Given the description of an element on the screen output the (x, y) to click on. 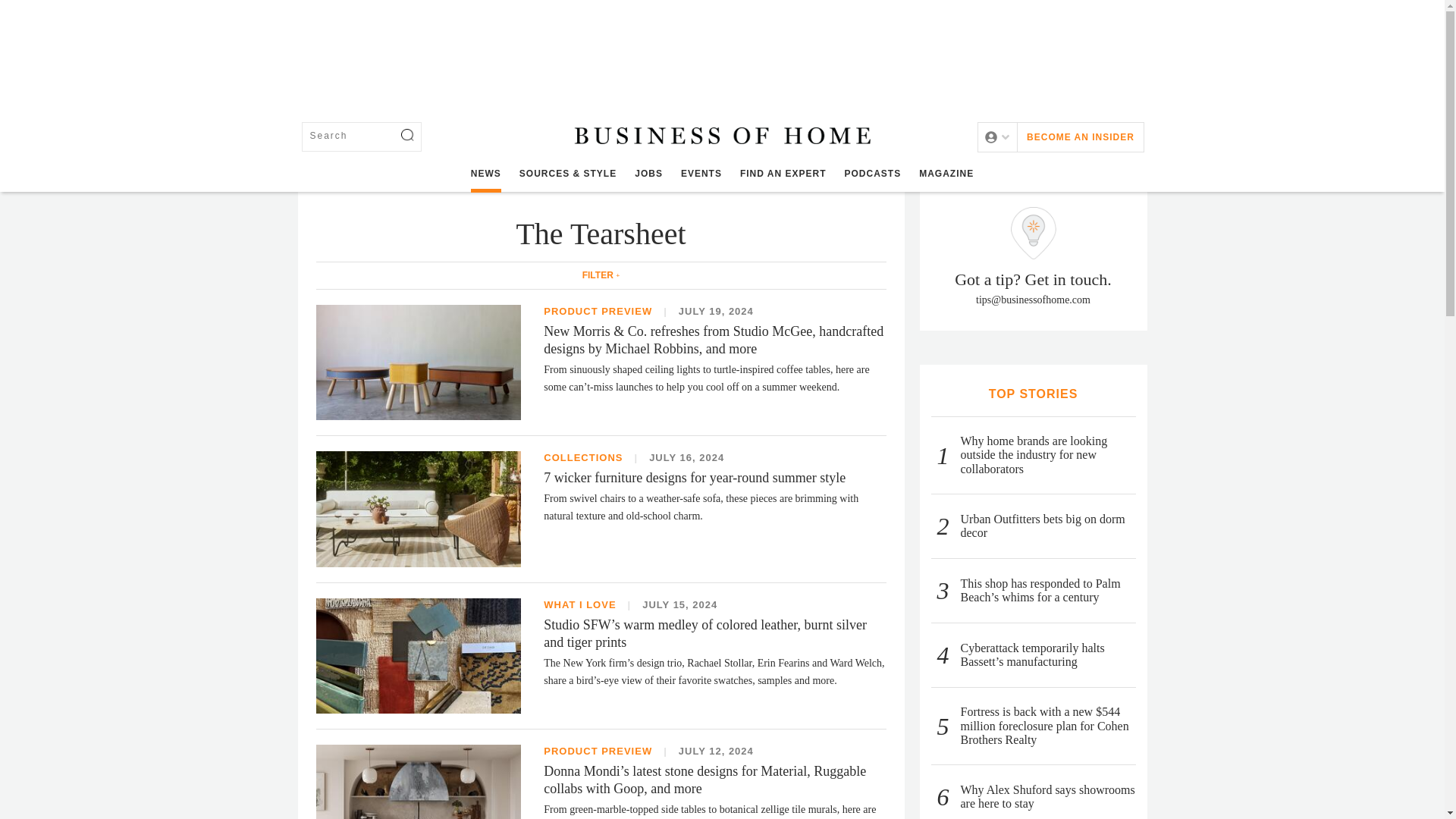
NEWS (485, 173)
